Given the description of an element on the screen output the (x, y) to click on. 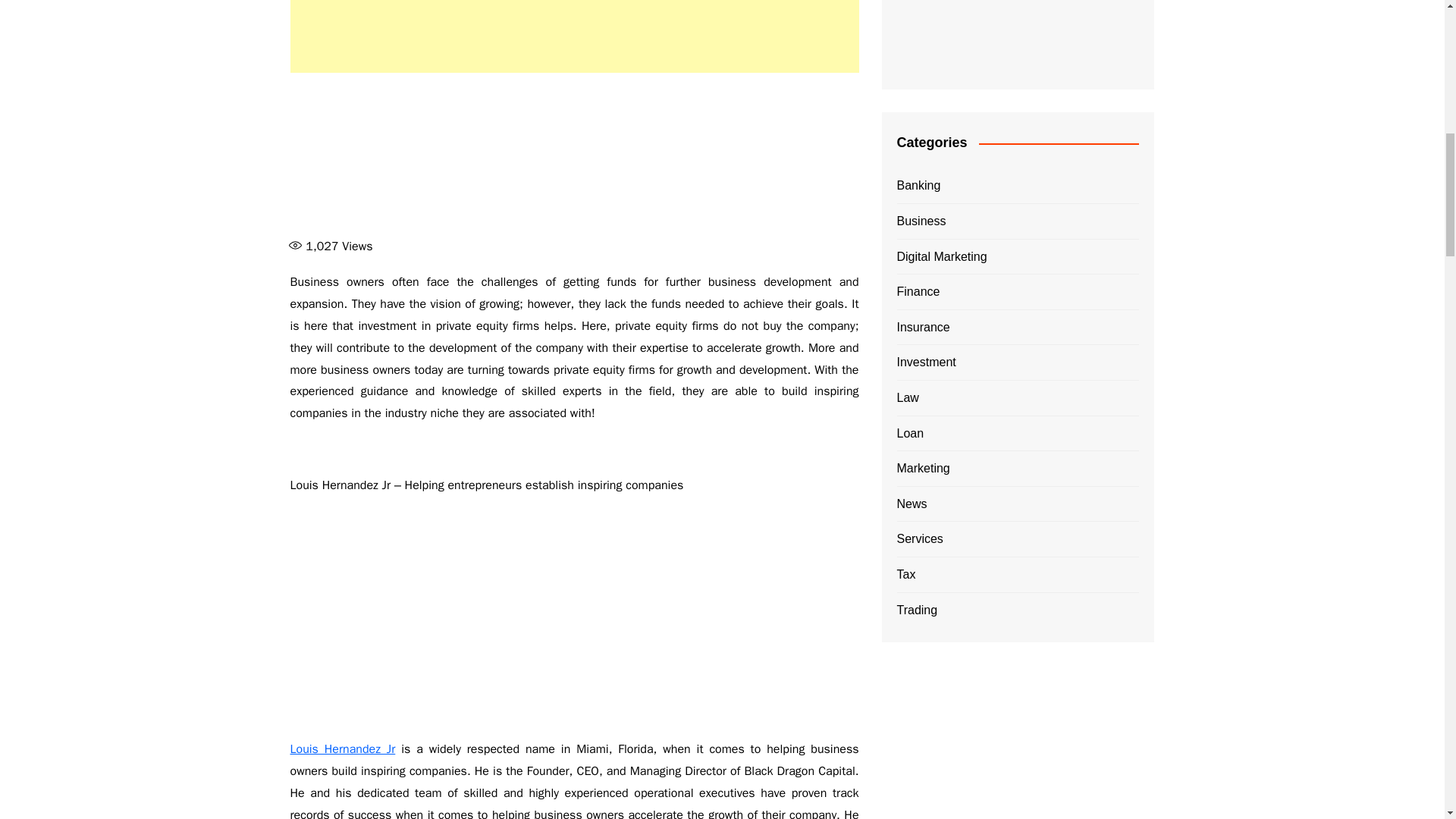
Advertisement (1017, 742)
Advertisement (574, 617)
Louis Hernandez Jr (341, 749)
Advertisement (574, 158)
